Given the description of an element on the screen output the (x, y) to click on. 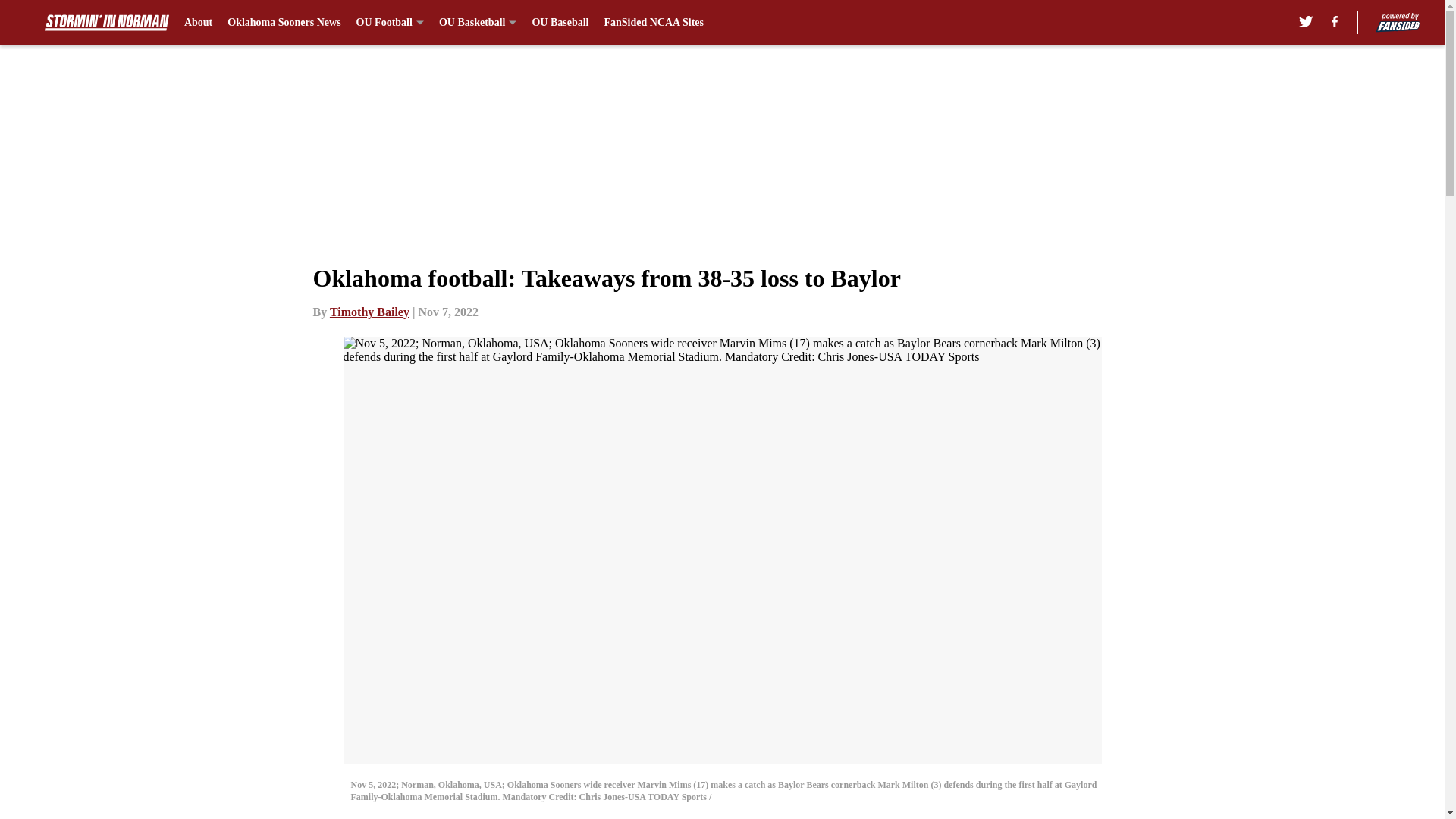
About (198, 22)
Oklahoma Sooners News (283, 22)
OU Baseball (559, 22)
Timothy Bailey (369, 311)
FanSided NCAA Sites (653, 22)
